Given the description of an element on the screen output the (x, y) to click on. 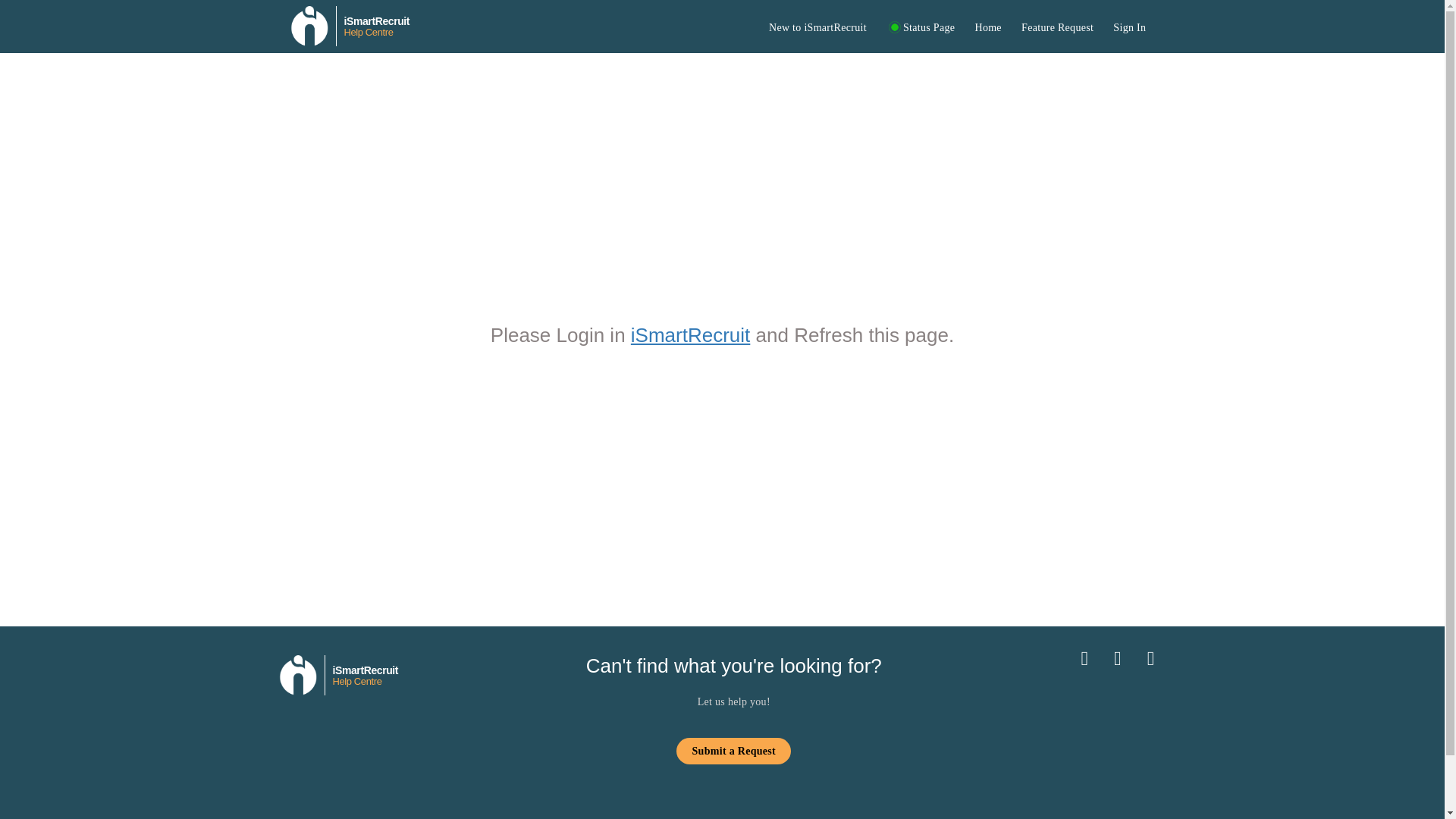
iSmartRecruit (689, 333)
Home (988, 27)
Feature Request (1057, 27)
New to iSmartRecruit (817, 27)
Submit a Request (733, 750)
Sign In (1129, 27)
Status Page (349, 22)
